Given the description of an element on the screen output the (x, y) to click on. 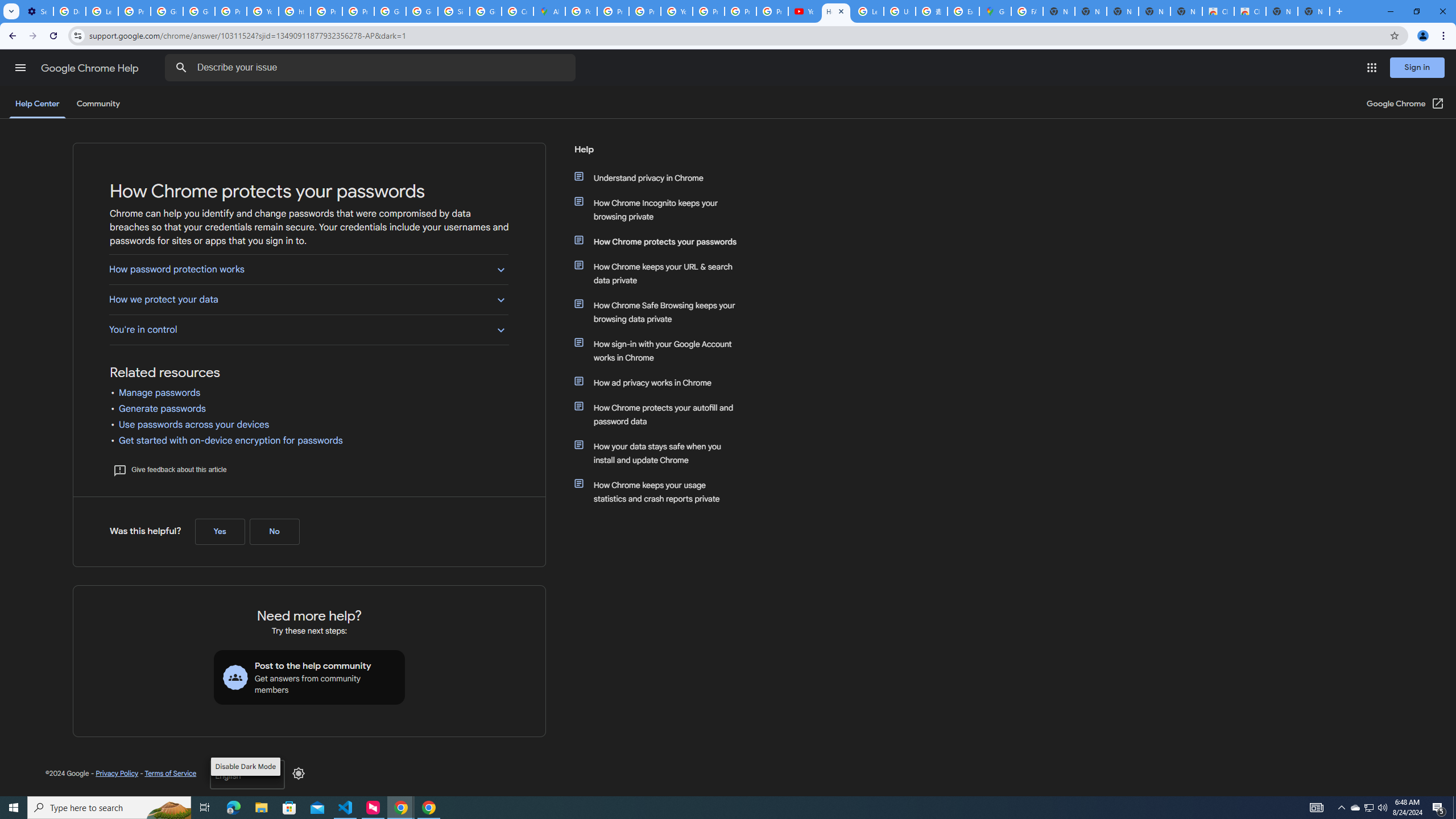
Yes (Was this helpful?) (219, 531)
Privacy Policy (117, 773)
Policy Accountability and Transparency - Transparency Center (581, 11)
Search Help Center (181, 67)
Google Chrome (Open in a new window) (1404, 103)
How Chrome Incognito keeps your browsing private (661, 209)
